Given the description of an element on the screen output the (x, y) to click on. 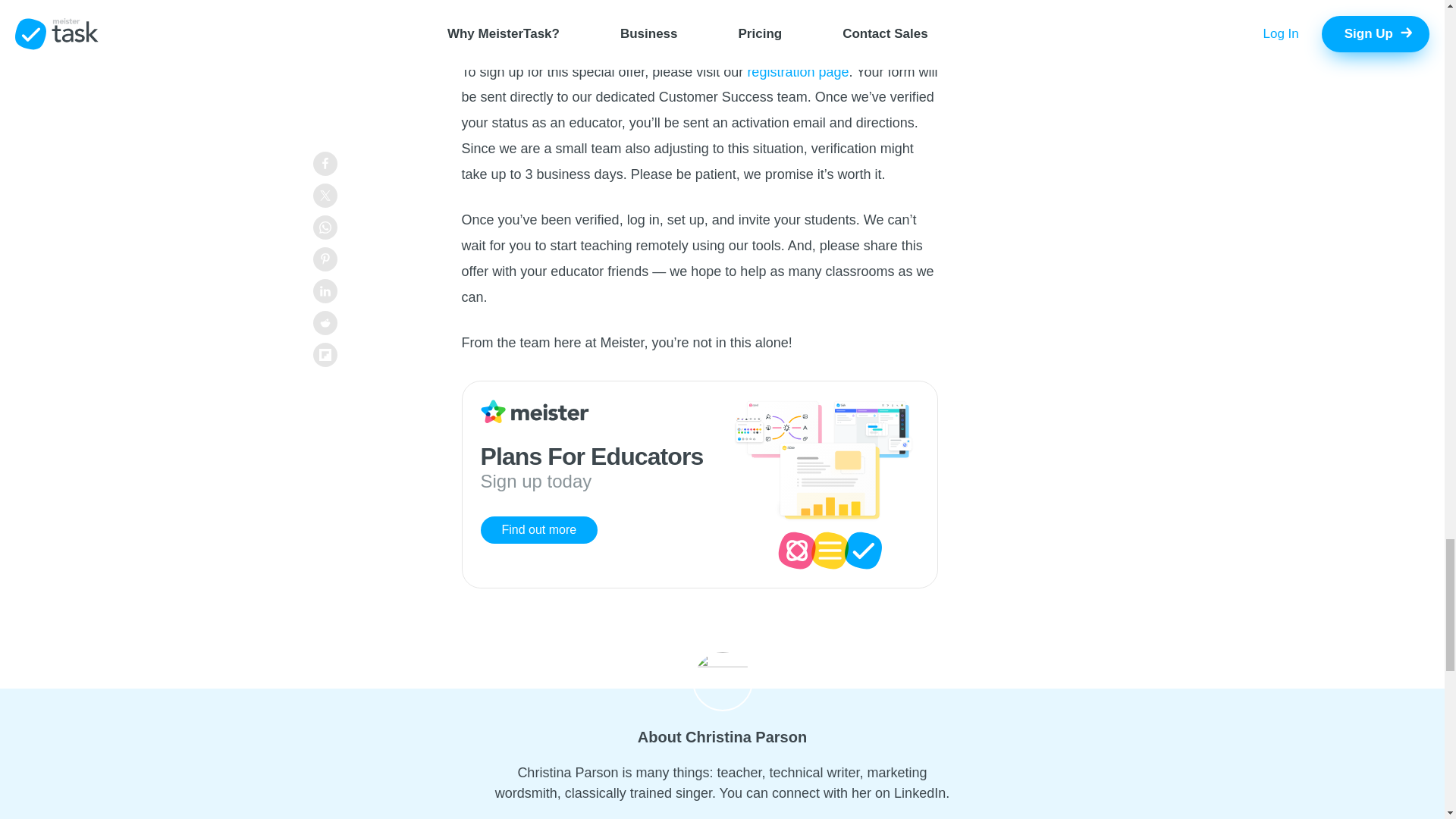
Find out more (539, 529)
registration page (797, 71)
